Given the description of an element on the screen output the (x, y) to click on. 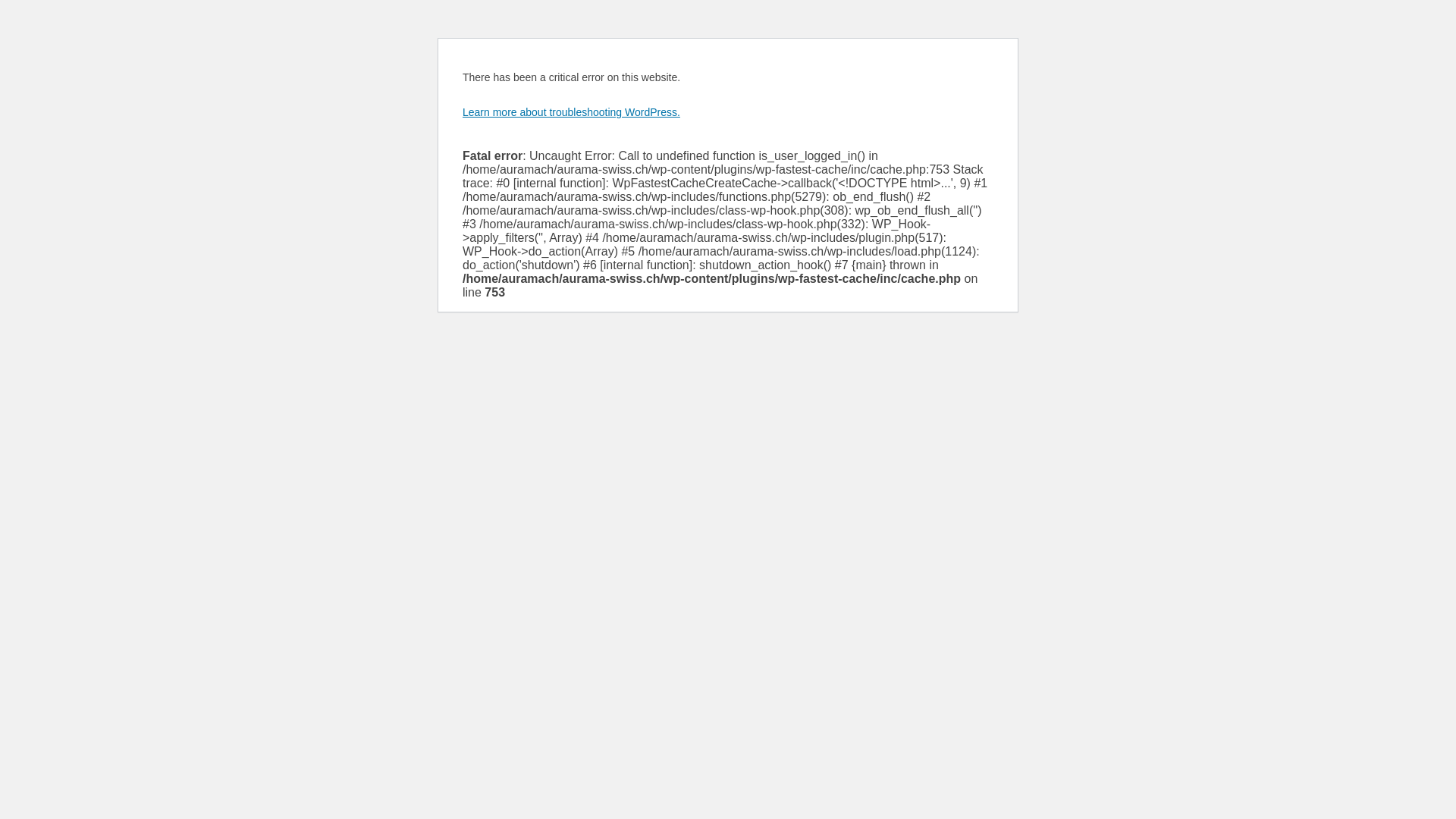
Learn more about troubleshooting WordPress. Element type: text (571, 112)
